Given the description of an element on the screen output the (x, y) to click on. 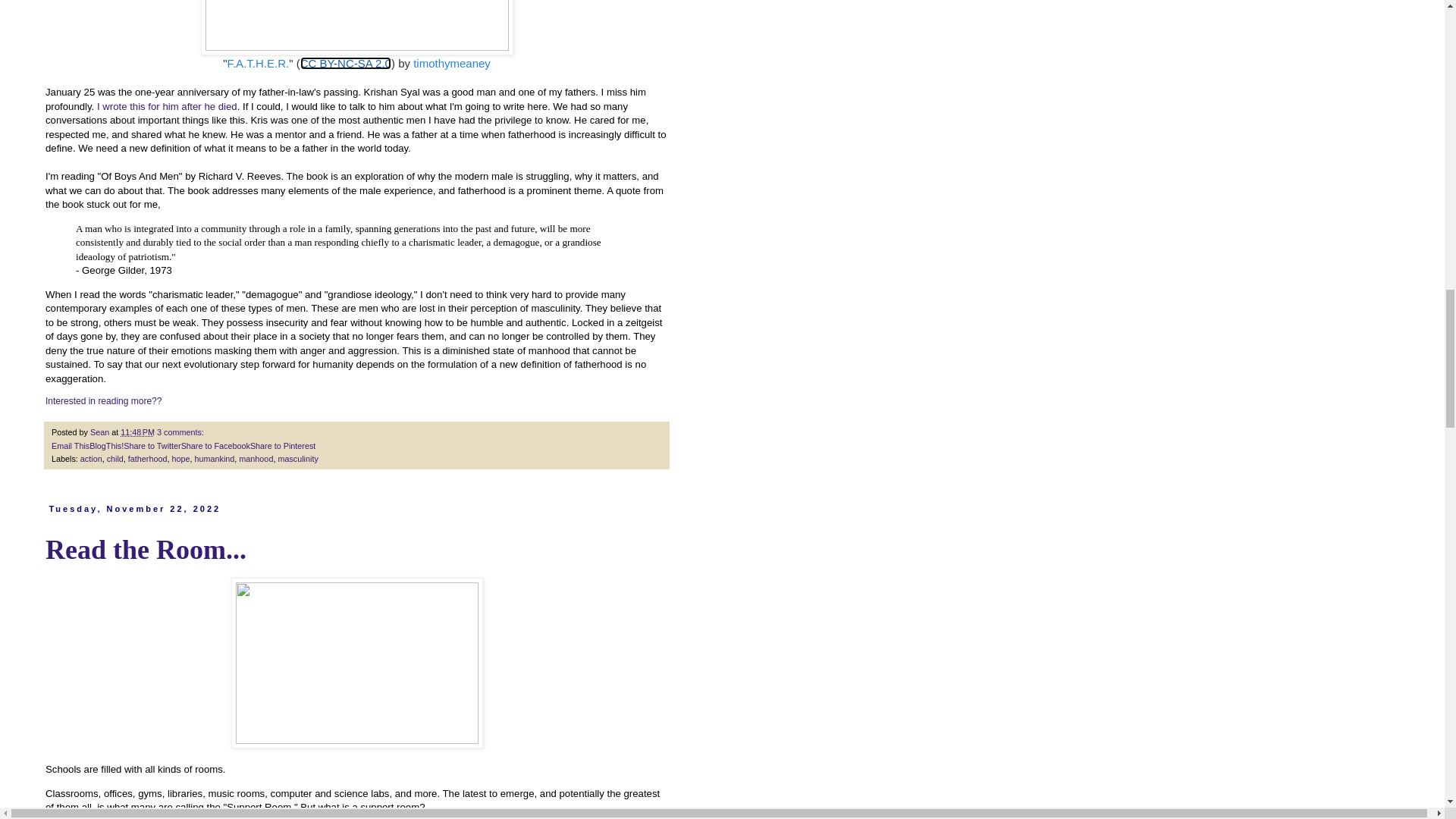
Interested in reading more?? (103, 400)
Sean (101, 431)
Email This (69, 445)
author profile (101, 431)
permanent link (137, 431)
My Fathers (103, 400)
timothymeaney (451, 62)
I wrote this for him after he died (167, 106)
Share to Twitter (151, 445)
CC BY-NC-SA 2.0 (345, 62)
Email Post (212, 431)
F.A.T.H.E.R. (257, 62)
BlogThis! (105, 445)
